Given the description of an element on the screen output the (x, y) to click on. 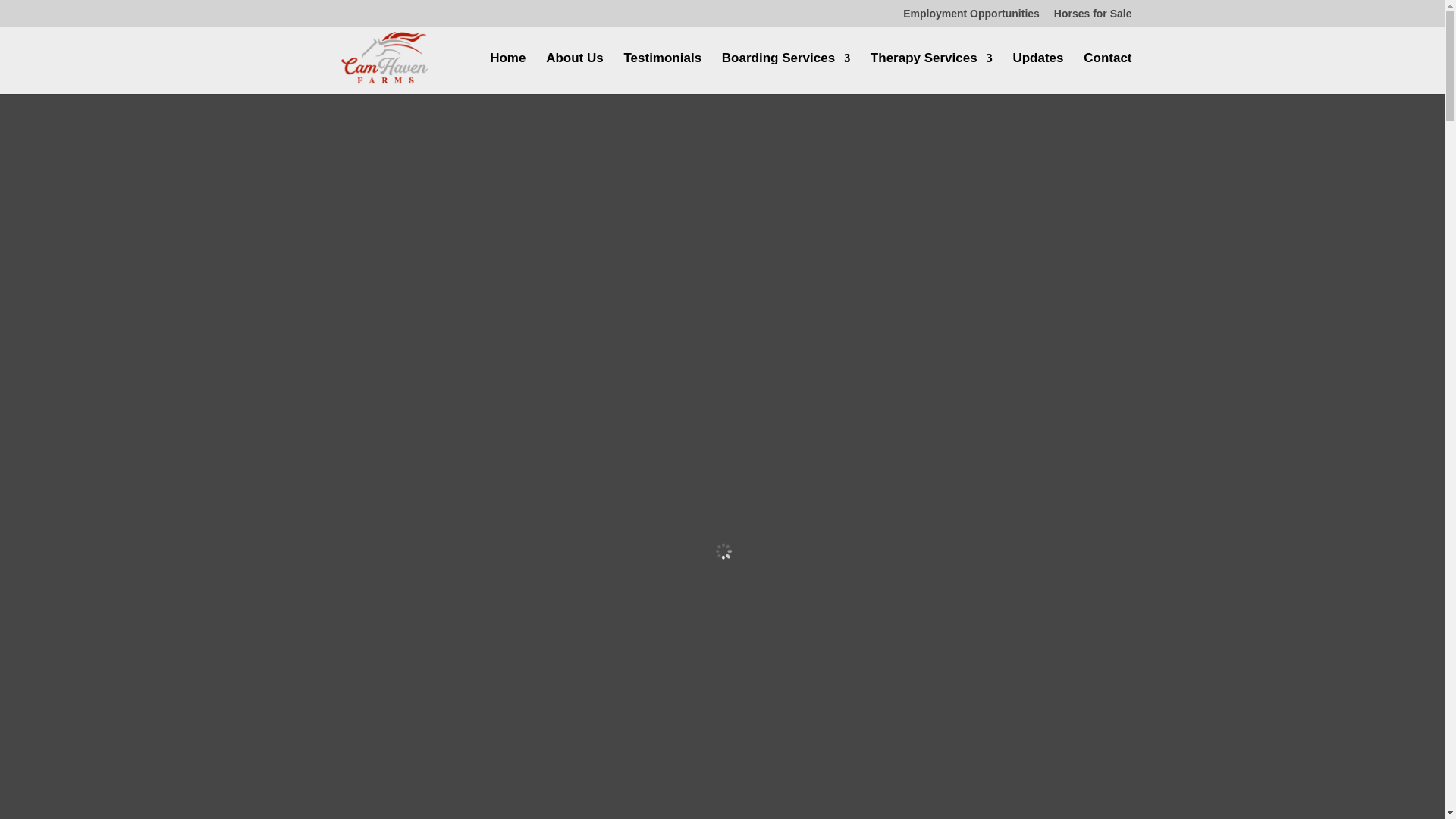
Updates (1036, 73)
Horses for Sale (1093, 16)
Therapy Services (931, 73)
About Us (575, 73)
Testimonials (662, 73)
Boarding Services (786, 73)
Employment Opportunities (970, 16)
Contact (1107, 73)
